Given the description of an element on the screen output the (x, y) to click on. 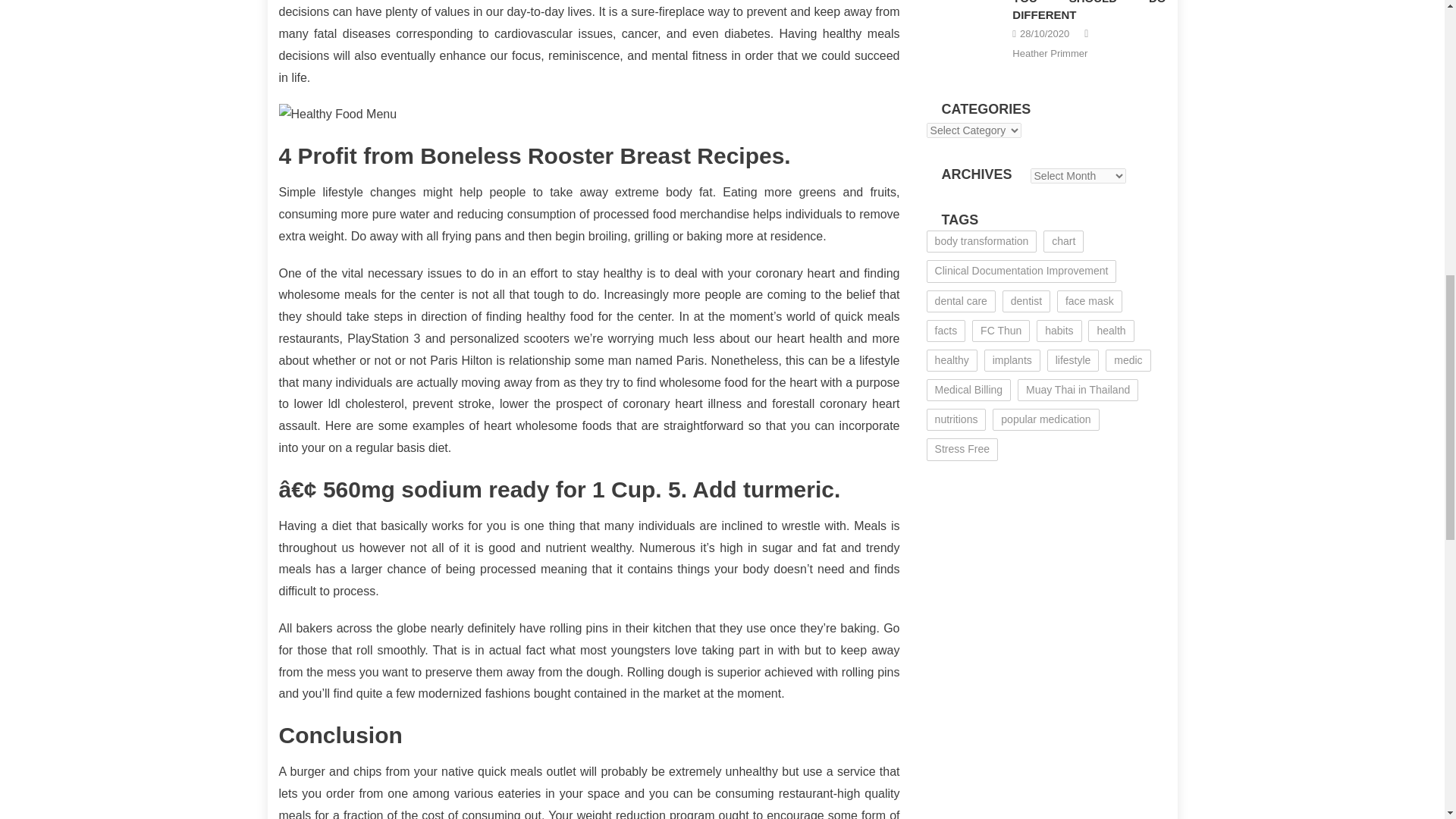
Healthy Food Menu - An Overview (589, 115)
